Given the description of an element on the screen output the (x, y) to click on. 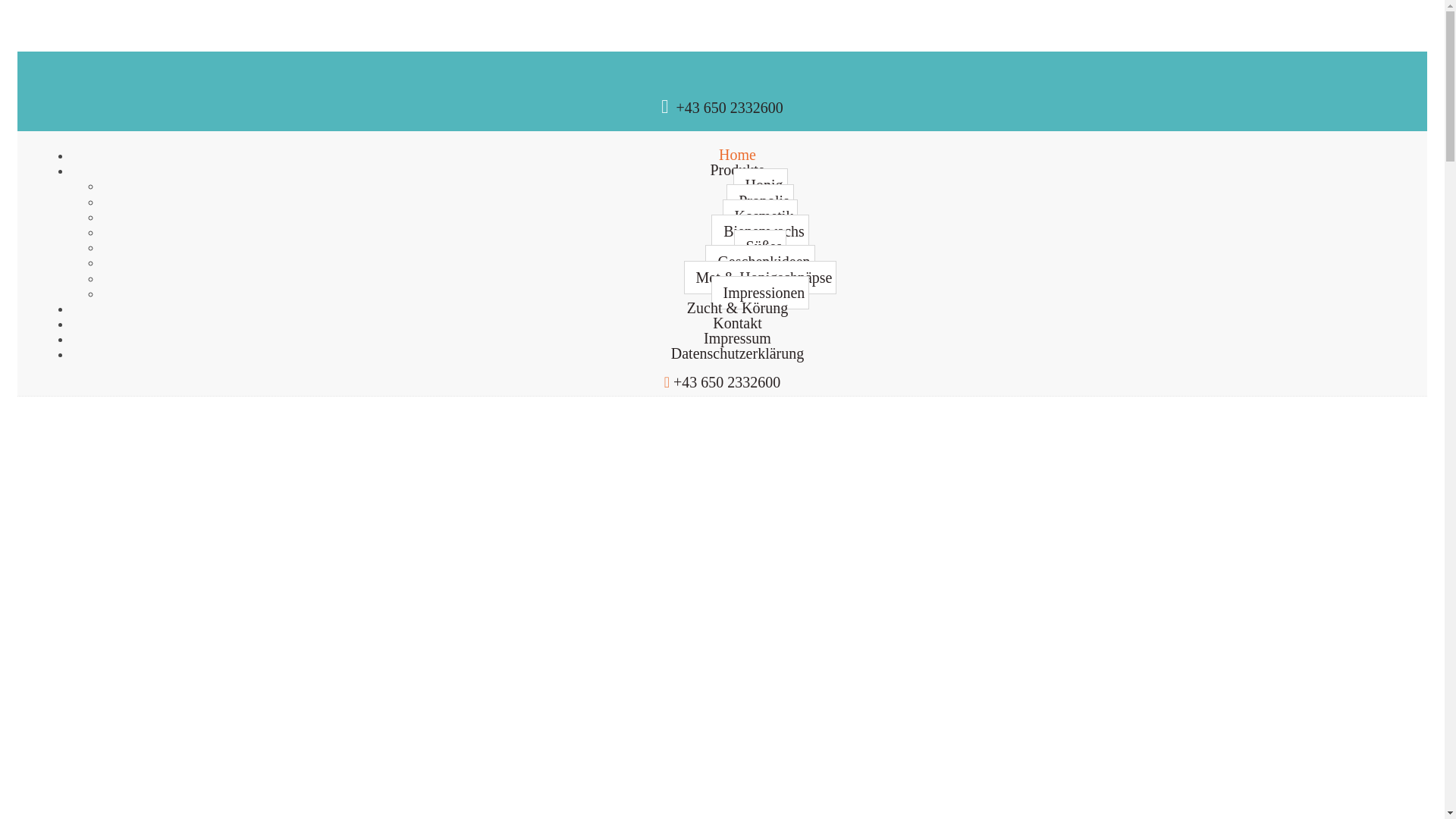
Geschenkideen Element type: text (759, 261)
+43 650 2332600 Element type: text (726, 381)
+43 650 2332600 Element type: text (728, 107)
Bienenwachs Element type: text (760, 230)
Home Element type: text (737, 154)
Kontakt Element type: text (736, 322)
Impressum Element type: text (737, 338)
Honig Element type: text (759, 184)
Impressionen Element type: text (760, 292)
Propolis Element type: text (759, 200)
Produkte Element type: text (736, 169)
Logo Element type: hover (40, 403)
Kosmetik Element type: text (760, 215)
